Given the description of an element on the screen output the (x, y) to click on. 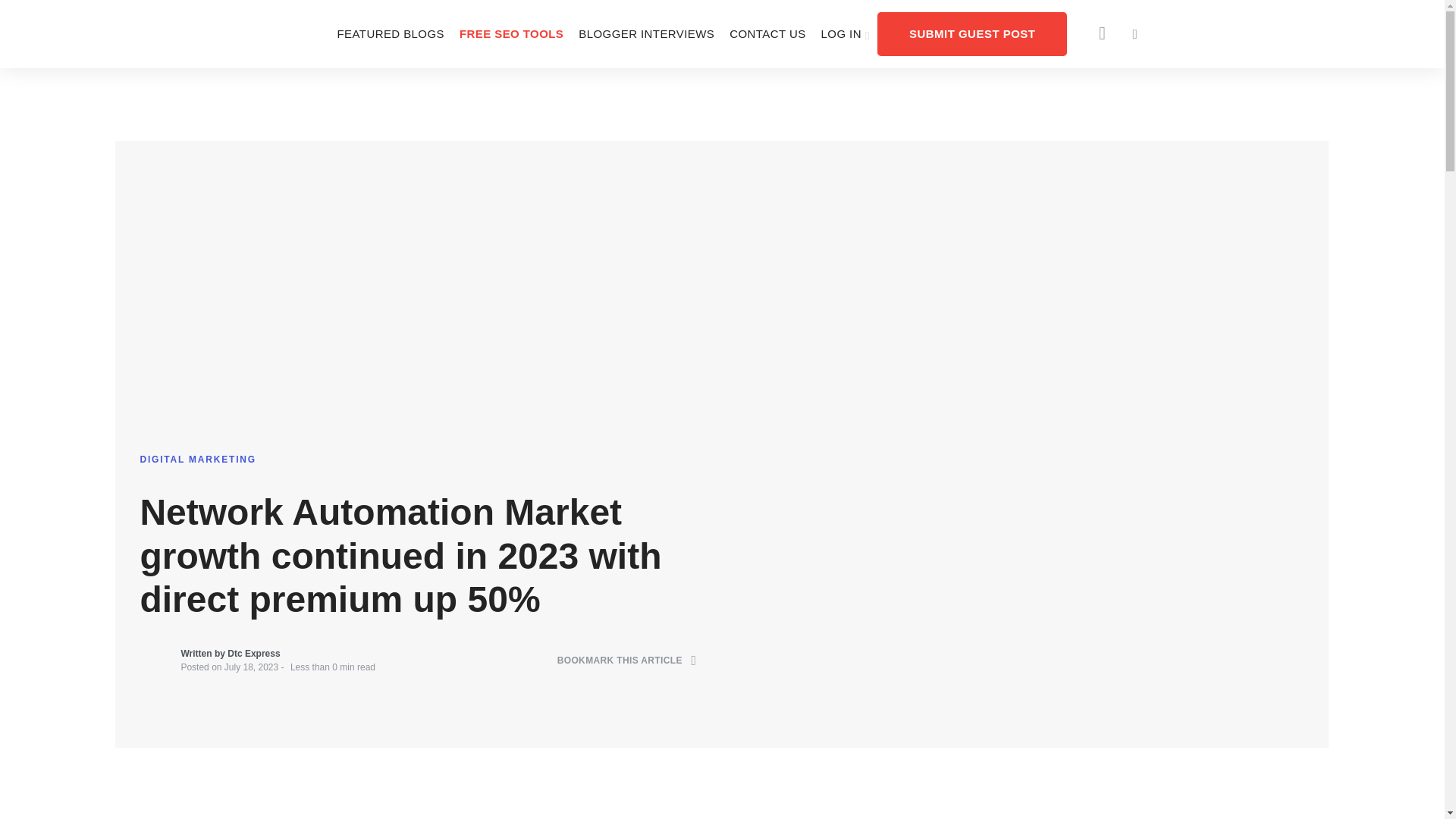
July 18, 2023 (251, 666)
Dtc Express (253, 653)
SUBMIT GUEST POST (972, 33)
BOOKMARK THIS ARTICLE (627, 660)
FREE SEO TOOLS (510, 33)
CONTACT US (767, 33)
LOG IN (845, 33)
FEATURED BLOGS (390, 33)
CONTACT US (767, 33)
DIGITAL MARKETING (197, 459)
BLOGGER INTERVIEWS (646, 33)
LOG IN (845, 33)
FEATURED BLOGS (390, 33)
FREE SEO TOOLS (510, 33)
SUBMIT GUEST POST (972, 33)
